Given the description of an element on the screen output the (x, y) to click on. 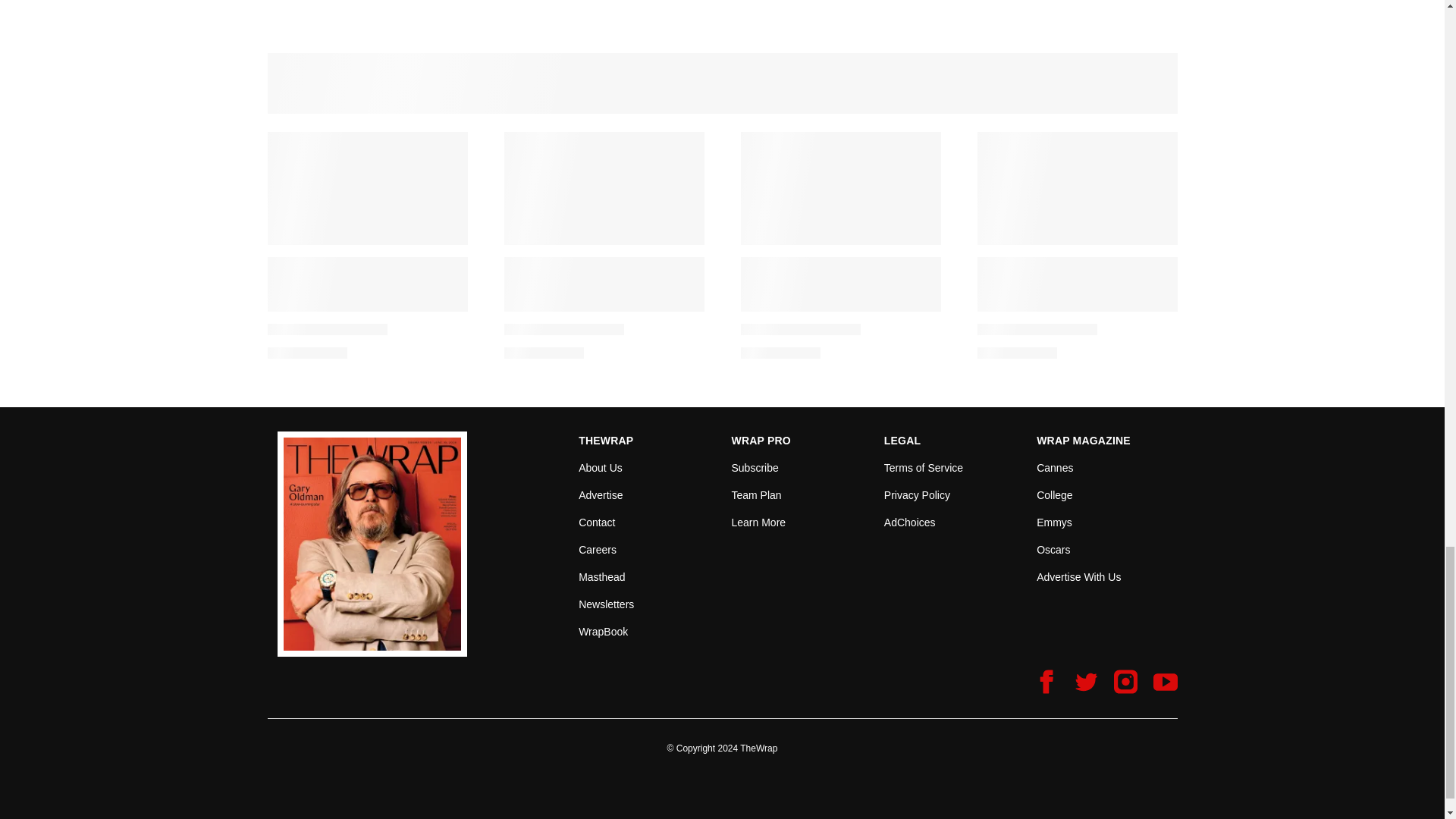
Learn more about becoming a member (758, 522)
